Given the description of an element on the screen output the (x, y) to click on. 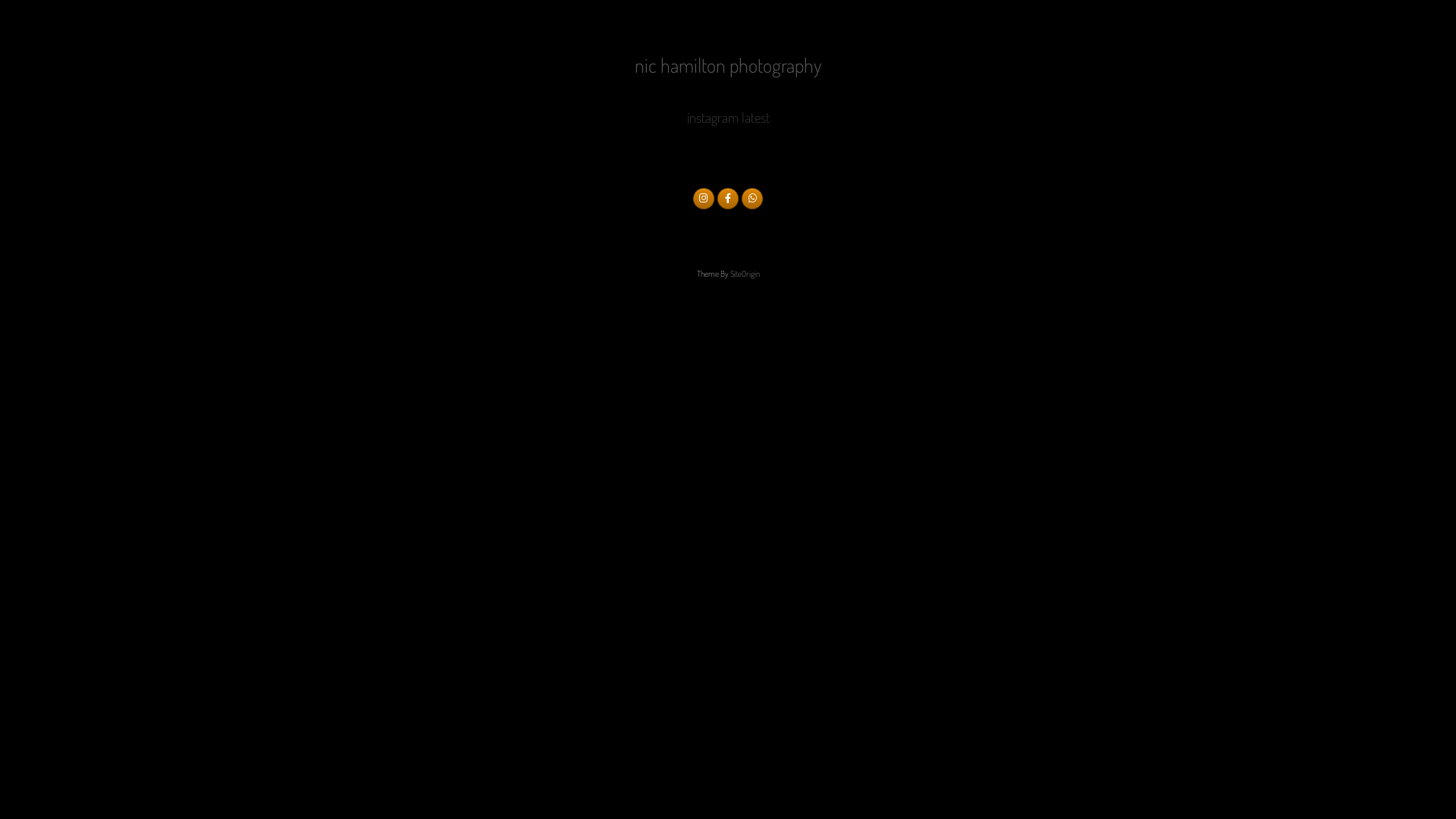
nic hamilton photography on Whatsapp Element type: hover (751, 198)
nic hamilton photography on Instagram Element type: hover (703, 198)
nic hamilton photography Element type: text (727, 75)
SiteOrigin Element type: text (744, 273)
nic hamilton photography on Facebook Element type: hover (727, 198)
